Given the description of an element on the screen output the (x, y) to click on. 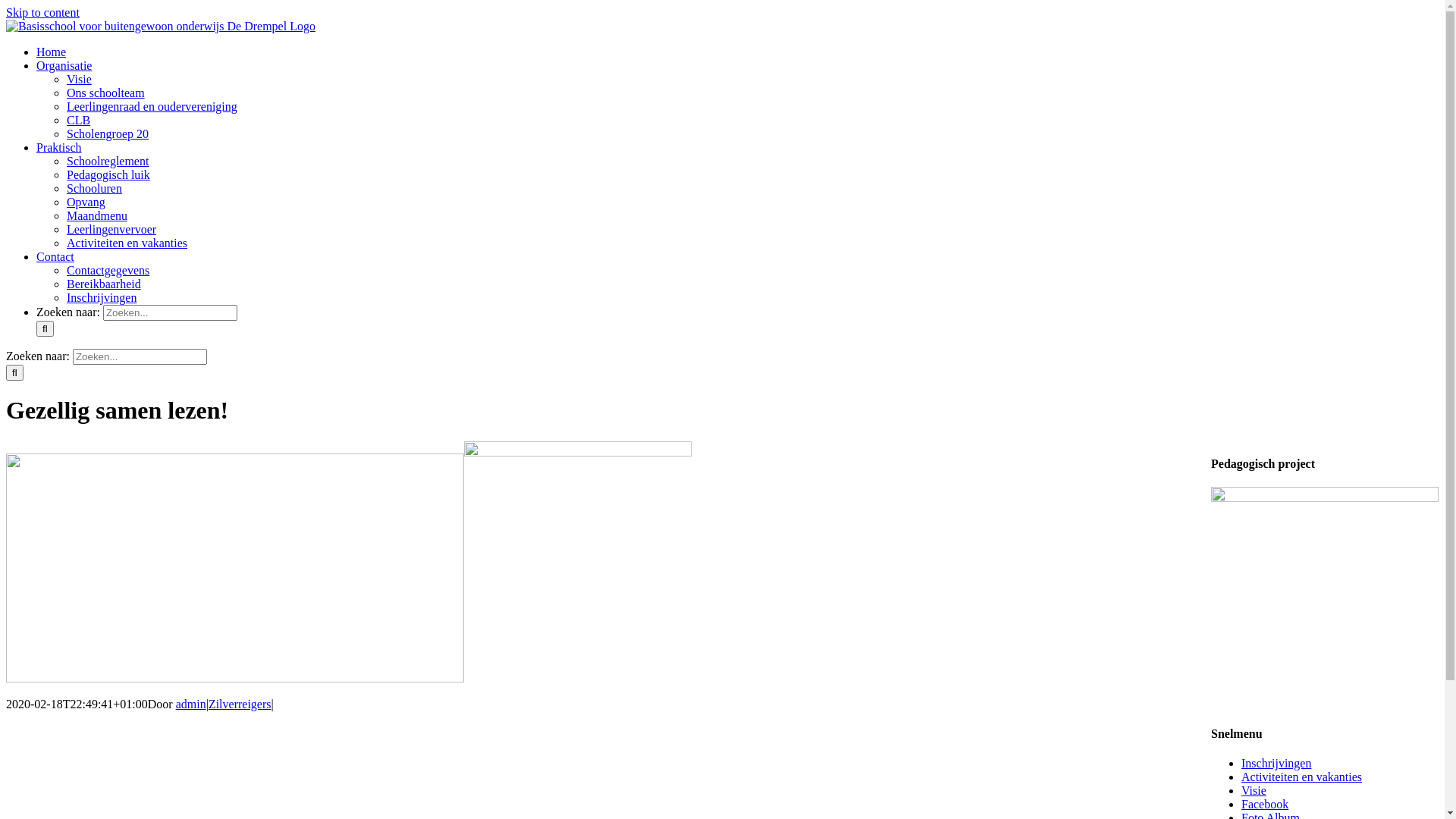
Opvang Element type: text (85, 201)
Visie Element type: text (1253, 790)
Inschrijvingen Element type: text (101, 297)
Activiteiten en vakanties Element type: text (126, 242)
Schoolreglement Element type: text (107, 160)
Maandmenu Element type: text (96, 215)
CLB Element type: text (78, 119)
Zilverreigers Element type: text (239, 703)
admin Element type: text (190, 703)
Ons schoolteam Element type: text (105, 92)
Home Element type: text (50, 51)
Skip to content Element type: text (42, 12)
Leerlingenraad en oudervereniging Element type: text (151, 106)
Inschrijvingen Element type: text (1276, 762)
Facebook Element type: text (1264, 803)
Praktisch Element type: text (58, 147)
Schooluren Element type: text (94, 188)
Contact Element type: text (55, 256)
Visie Element type: text (78, 78)
Pedagogisch luik Element type: text (108, 174)
Leerlingenvervoer Element type: text (111, 228)
Contactgegevens Element type: text (107, 269)
Organisatie Element type: text (63, 65)
Bereikbaarheid Element type: text (103, 283)
Activiteiten en vakanties Element type: text (1301, 776)
Scholengroep 20 Element type: text (107, 133)
